Given the description of an element on the screen output the (x, y) to click on. 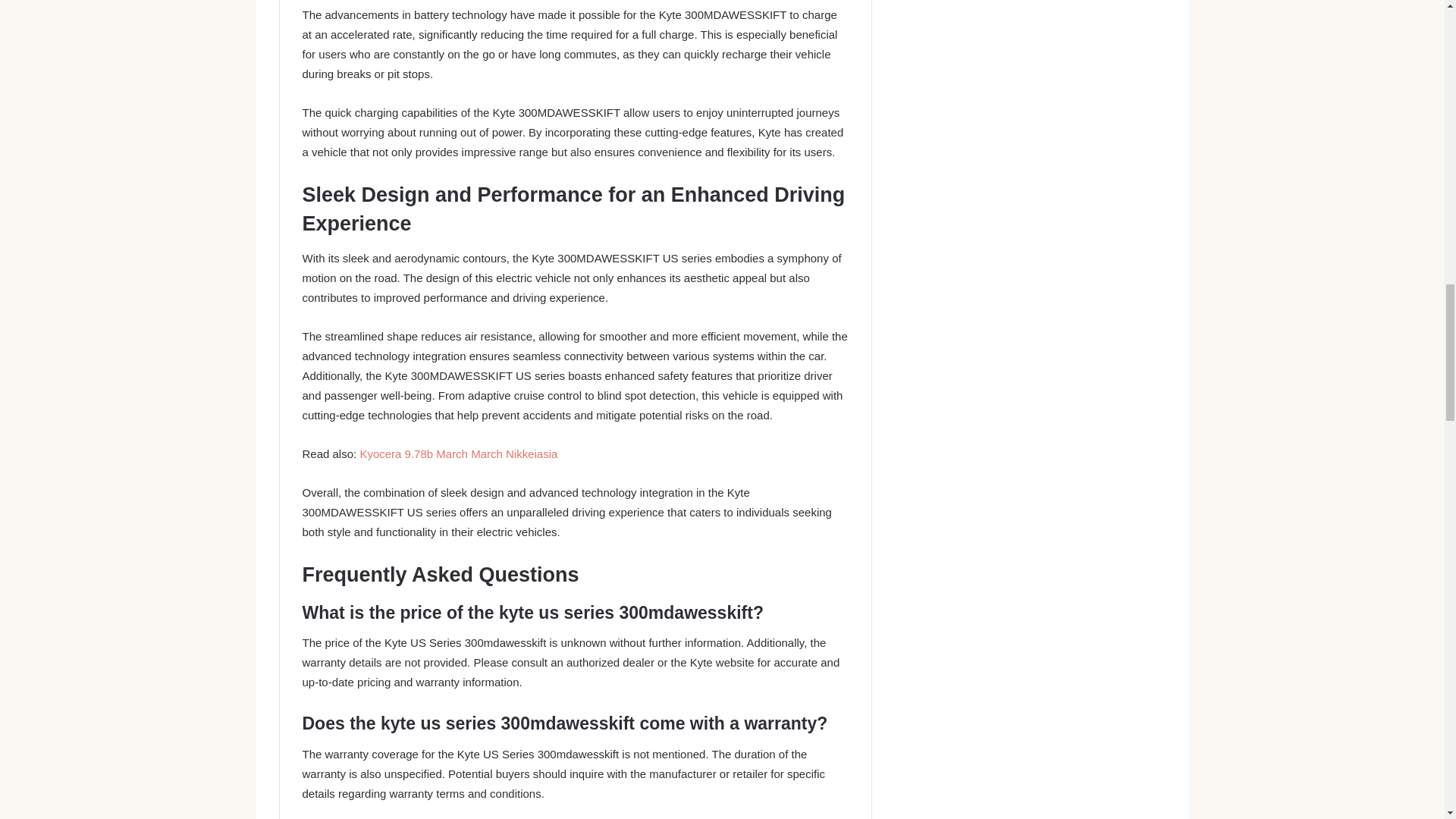
Kyocera 9.78b March March Nikkeiasia (458, 453)
